Given the description of an element on the screen output the (x, y) to click on. 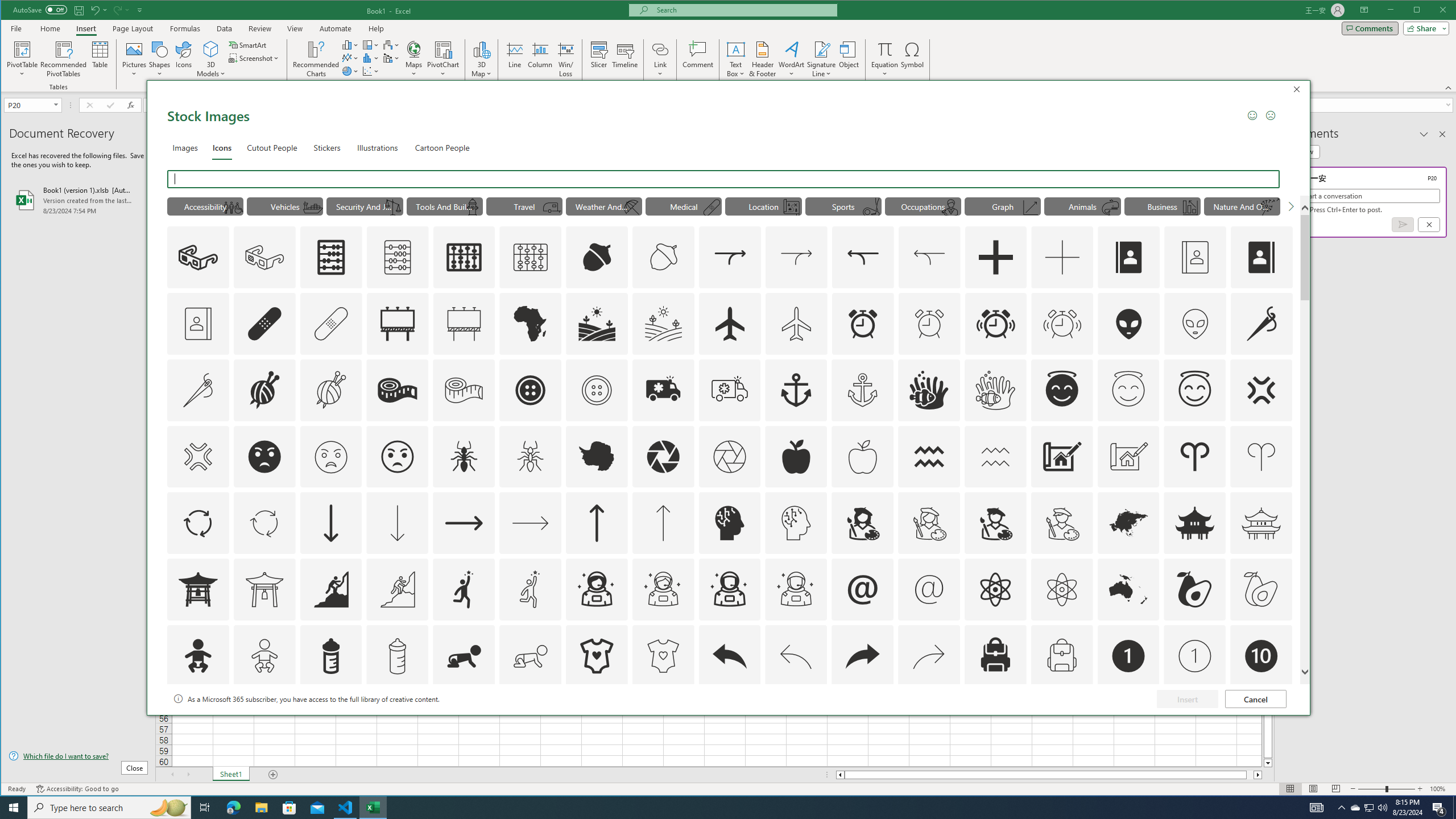
User Promoted Notification Area (1368, 807)
AutomationID: Icons_Anchor_M (863, 389)
AutomationID: Icons_Baby_M (264, 655)
Insert Combo Chart (391, 57)
AutomationID: Icons_Airplane (729, 323)
Screenshot (254, 57)
AutomationID: Icons_BabyCrawling_M (530, 655)
AutomationID: _134_Angel_Face_A (1061, 389)
3D Map (481, 48)
AutomationID: Icons_Badge9 (1194, 721)
